Given the description of an element on the screen output the (x, y) to click on. 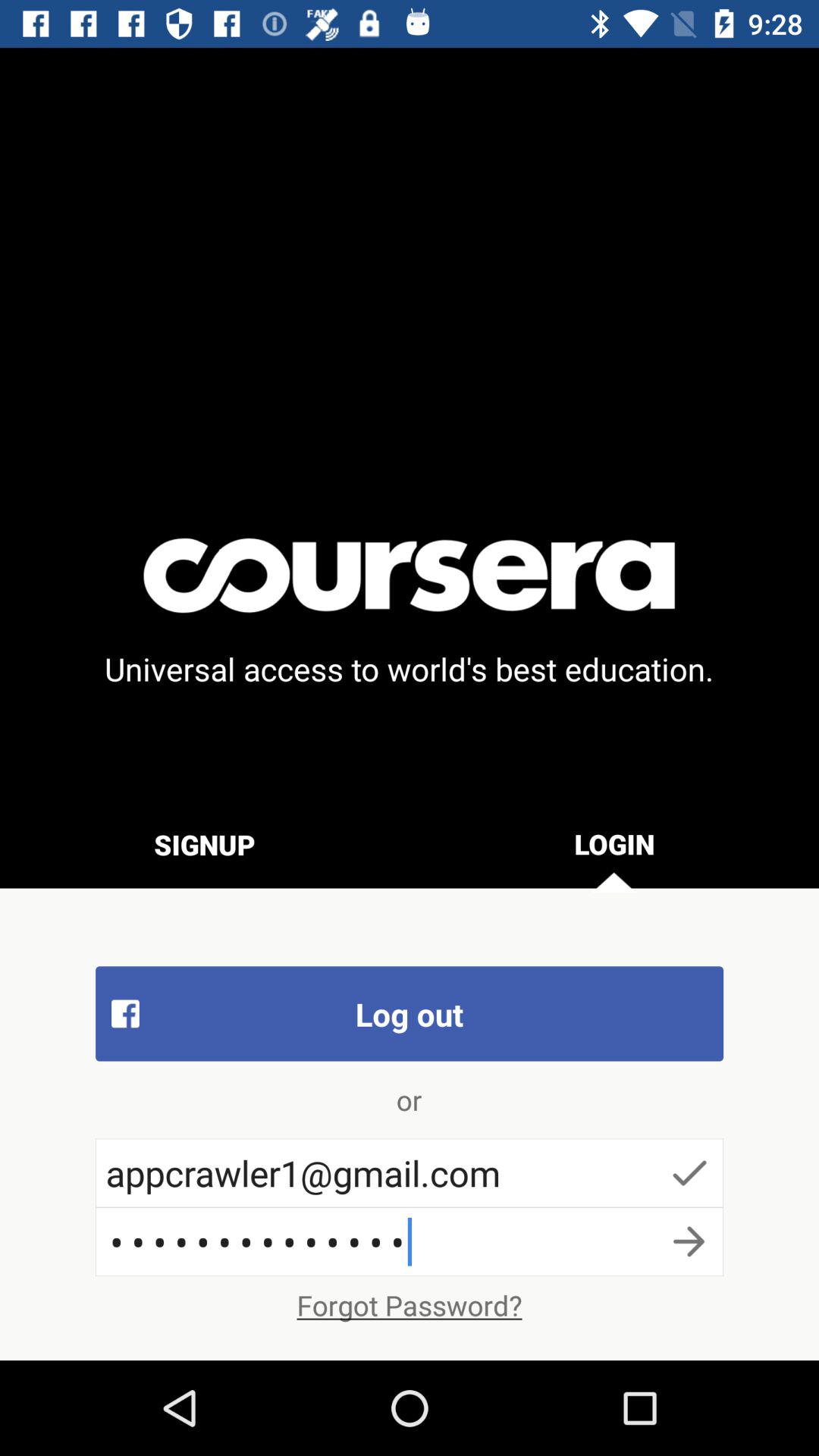
turn off icon below signup item (409, 1013)
